Given the description of an element on the screen output the (x, y) to click on. 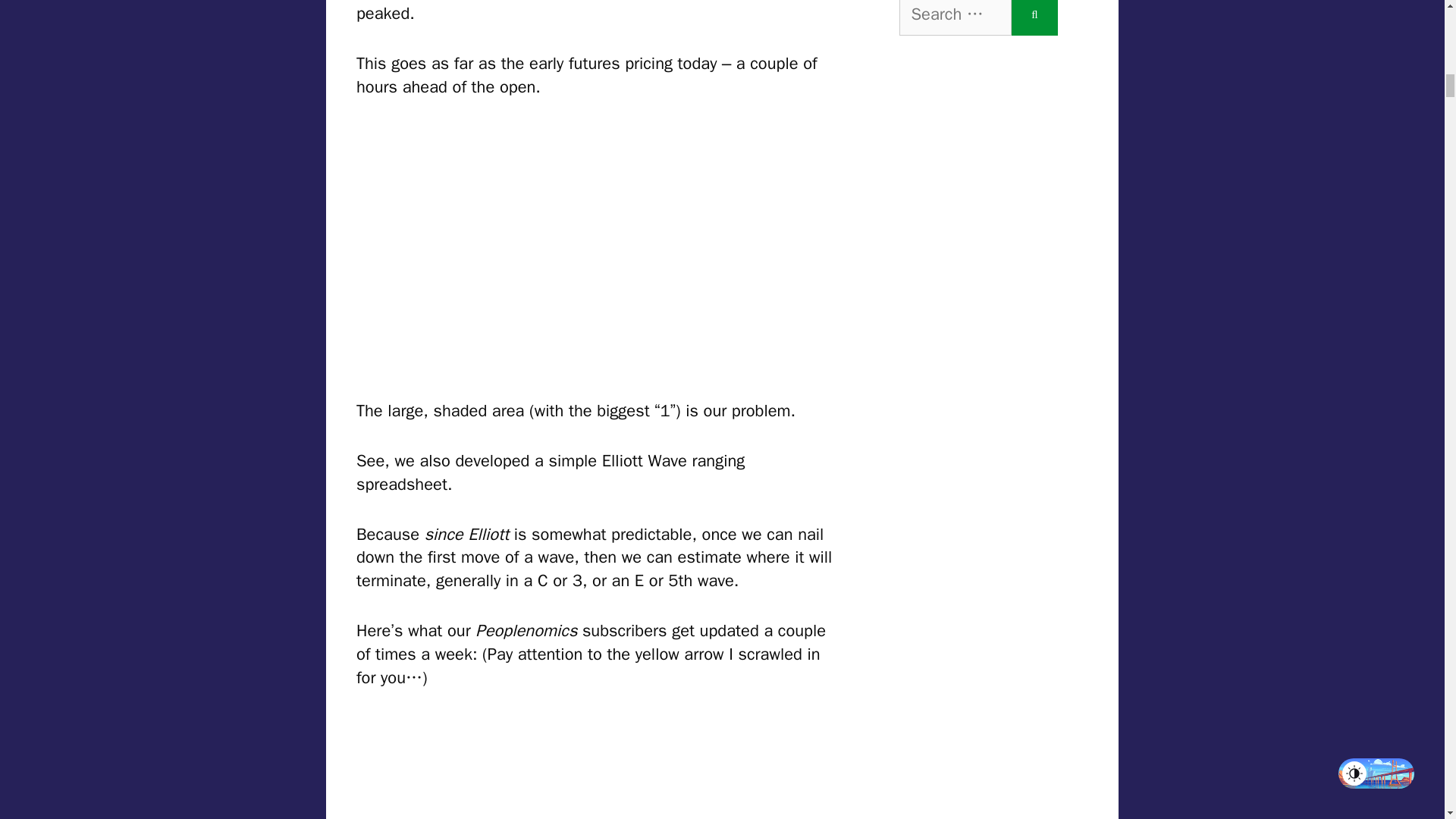
Search for: (955, 18)
202203291 - UrbanSurvival - 190.92.156.129 (526, 246)
202203292 - UrbanSurvival - 190.92.156.129 (526, 767)
